Given the description of an element on the screen output the (x, y) to click on. 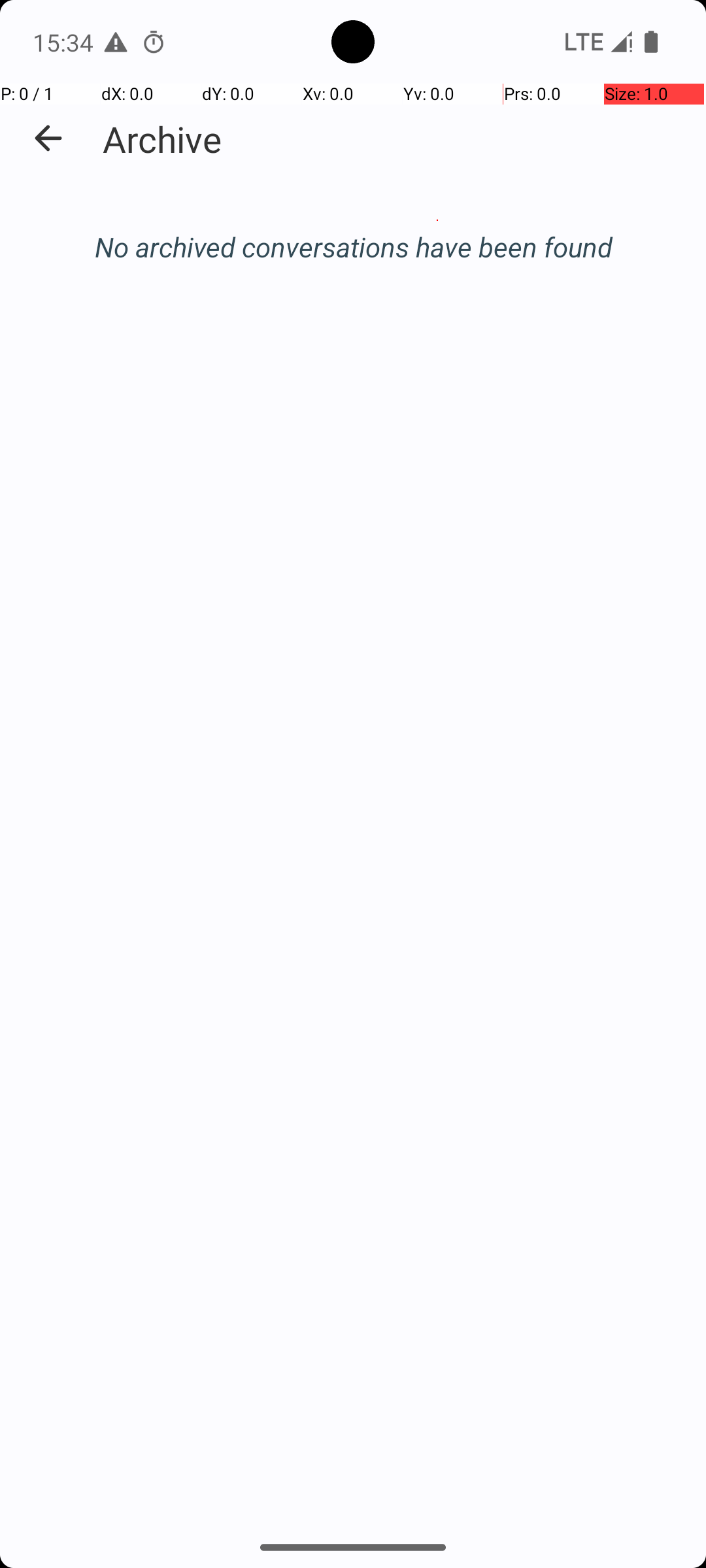
Archive Element type: android.widget.TextView (162, 138)
No archived conversations have been found Element type: android.widget.TextView (353, 246)
